Given the description of an element on the screen output the (x, y) to click on. 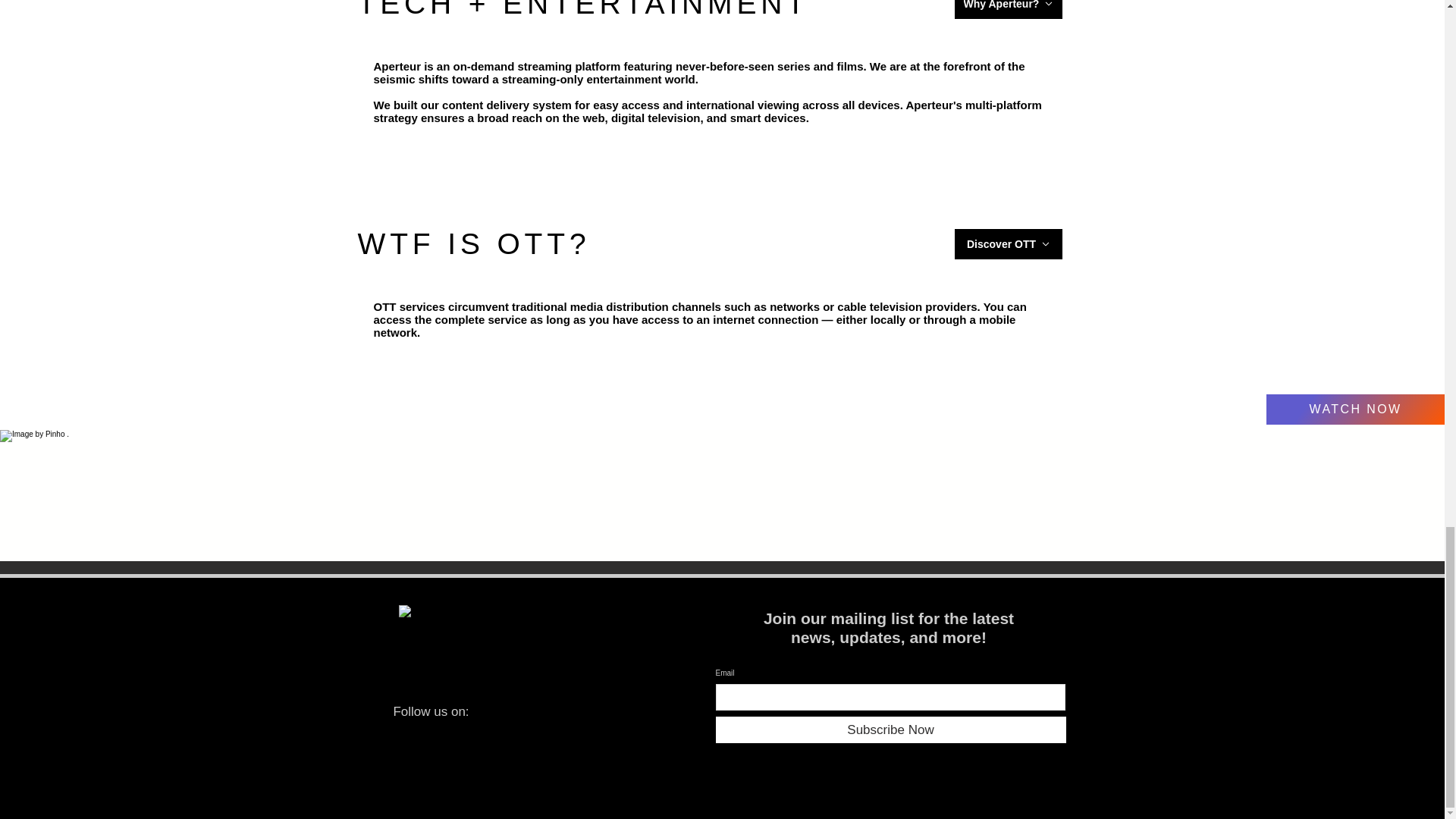
Why Aperteur? (1007, 9)
Subscribe Now (890, 729)
Discover OTT (1007, 244)
